Given the description of an element on the screen output the (x, y) to click on. 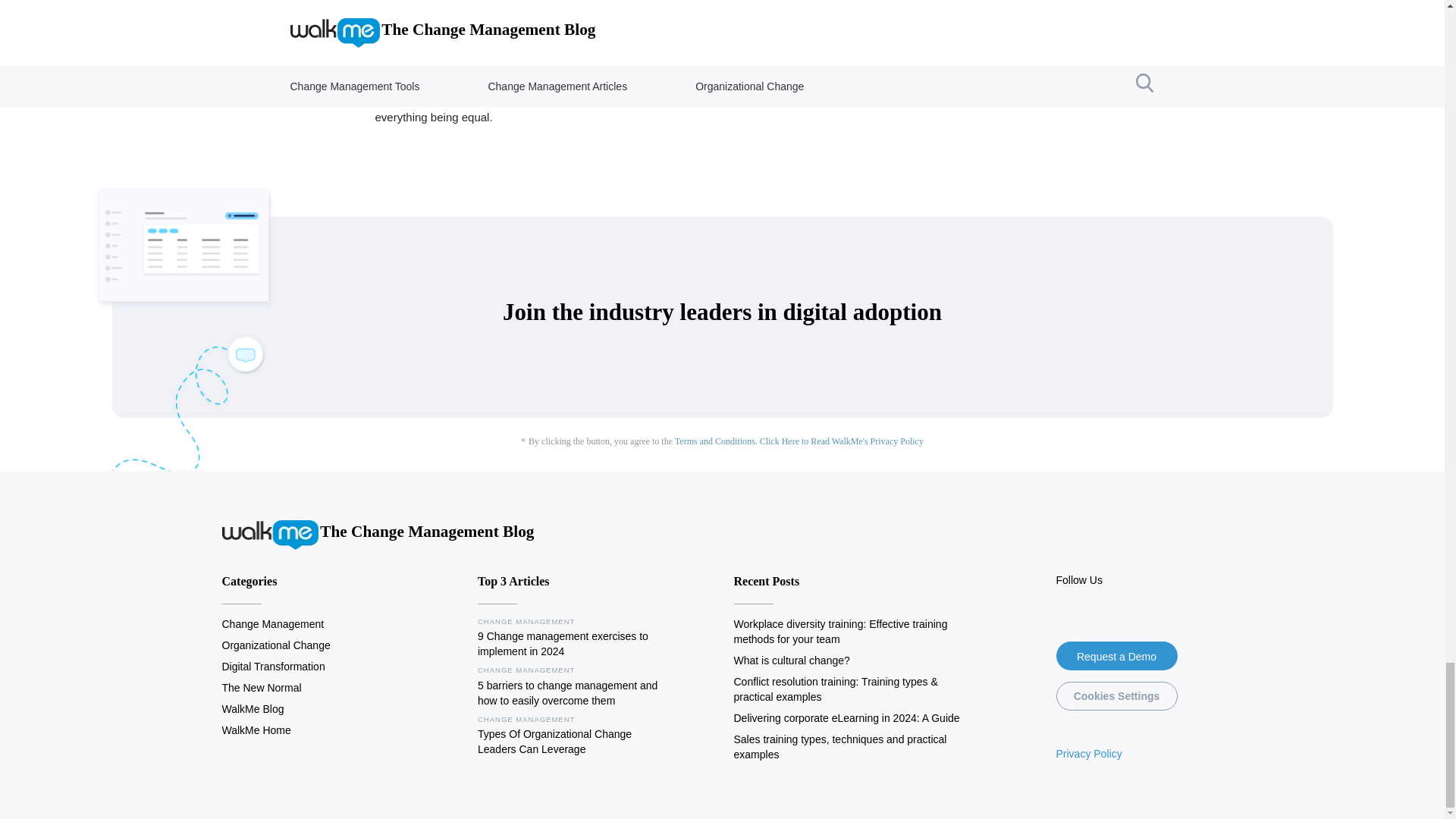
Organizational Change (275, 645)
Change Management (272, 623)
Posts by WalkMe Team (414, 43)
The Change Management Blog (377, 533)
WalkMe Team (414, 43)
